Given the description of an element on the screen output the (x, y) to click on. 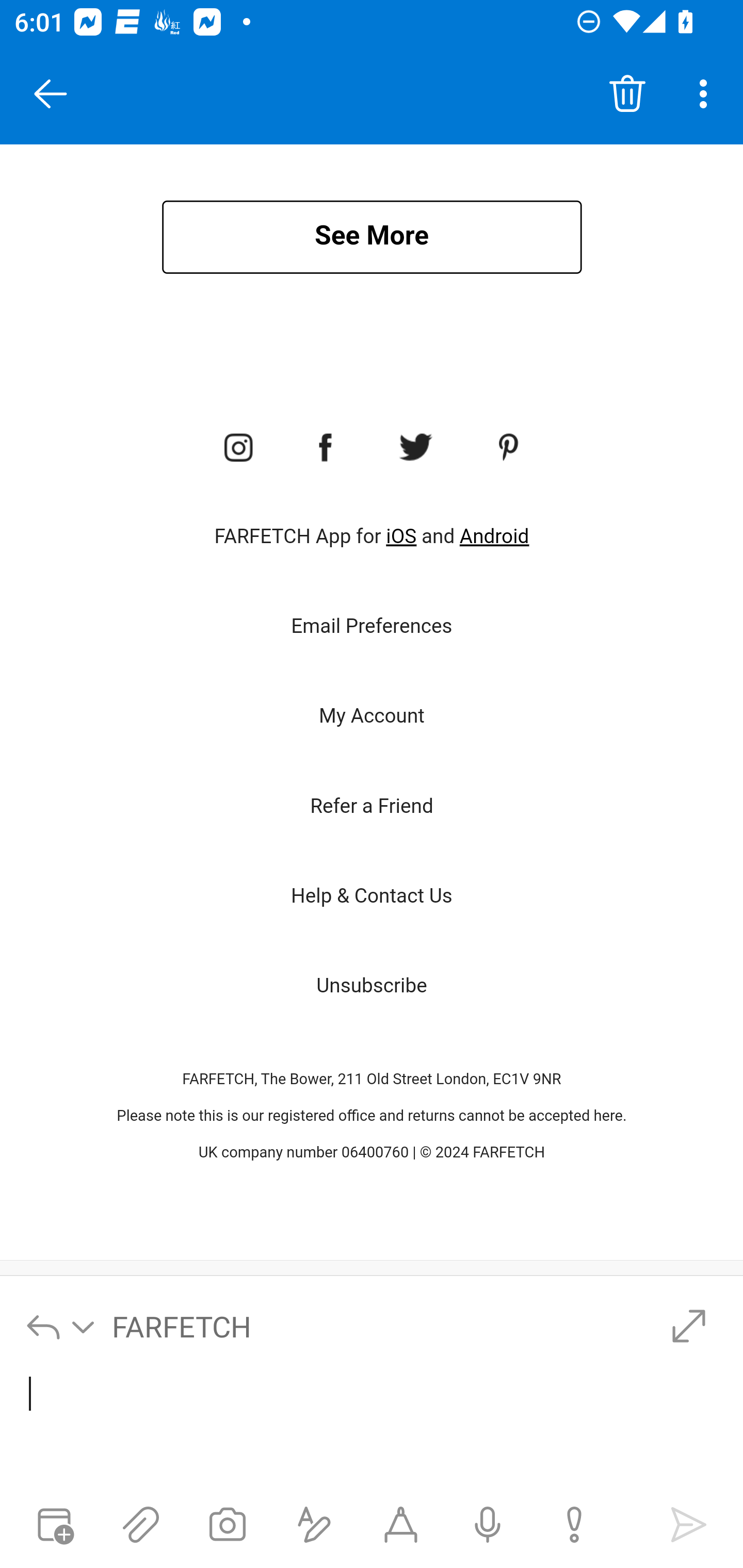
Close (50, 93)
Delete (626, 93)
More options (706, 93)
See More (371, 236)
image (237, 447)
image (326, 447)
image (415, 447)
image (509, 447)
iOS (400, 535)
Android (494, 535)
Email Preferences (371, 626)
My Account (371, 716)
Refer a Friend (371, 806)
Help & Contact Us (371, 896)
Unsubscribe (371, 985)
Reply options (61, 1325)
Open in full screen view (688, 1325)

 (372, 1428)
Attach meeting (54, 1524)
Attach files (140, 1524)
Take a photo (227, 1524)
Show formatting options (314, 1524)
Start Ink compose (400, 1524)
Dictation (487, 1524)
Importance (574, 1524)
Send (688, 1524)
